Given the description of an element on the screen output the (x, y) to click on. 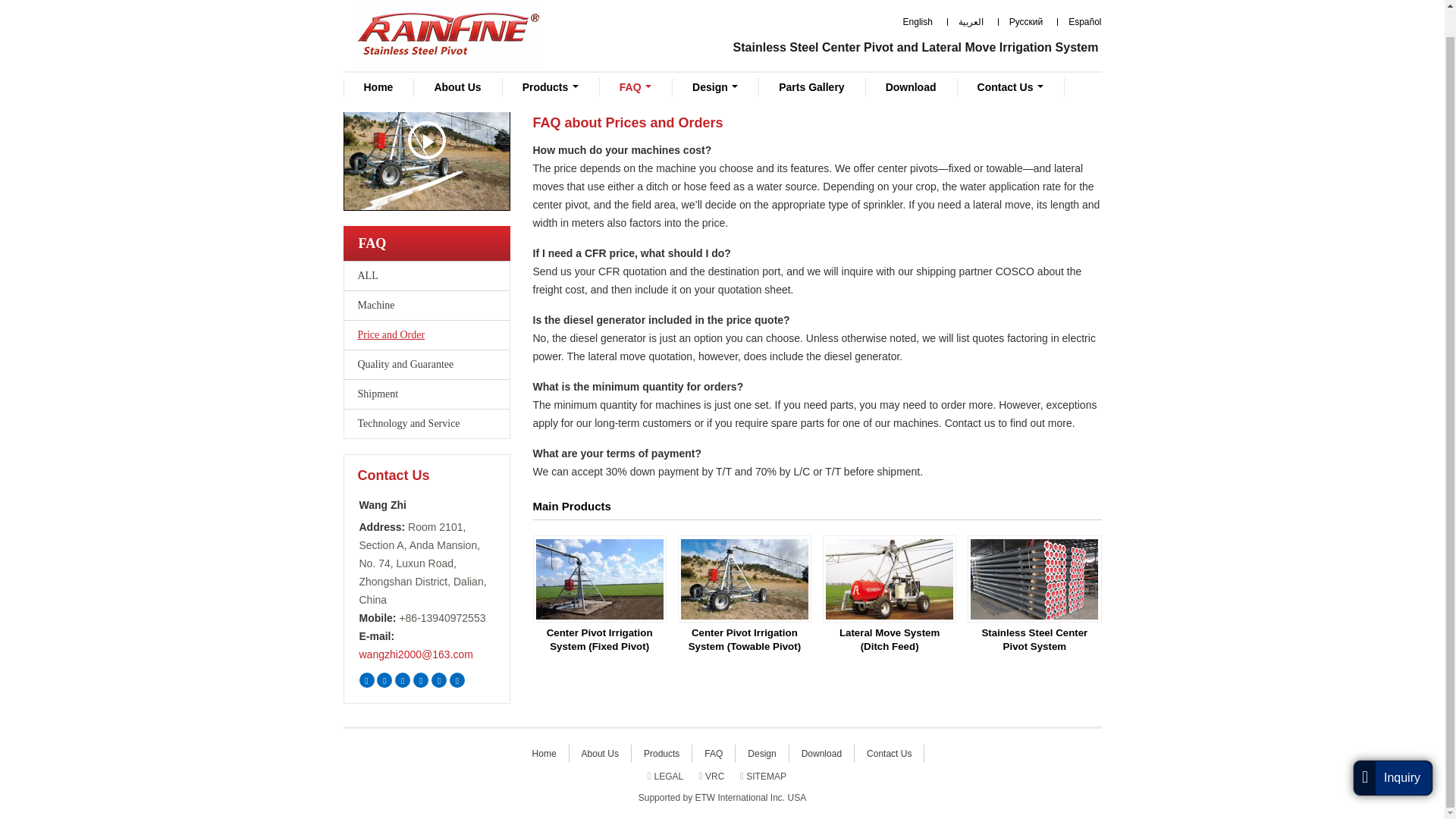
ETW legal profile (665, 776)
English (912, 2)
Linkedin (402, 679)
Twitter (366, 679)
Supported by ETW International Inc. USA (721, 797)
ETW Cloud System (456, 679)
Facebook (384, 679)
Home (377, 59)
Parts Gallery (811, 59)
About Us (456, 59)
Gmail (420, 679)
FAQ (634, 59)
Products (550, 59)
ETW SITEMAP (763, 776)
Home (544, 90)
